Given the description of an element on the screen output the (x, y) to click on. 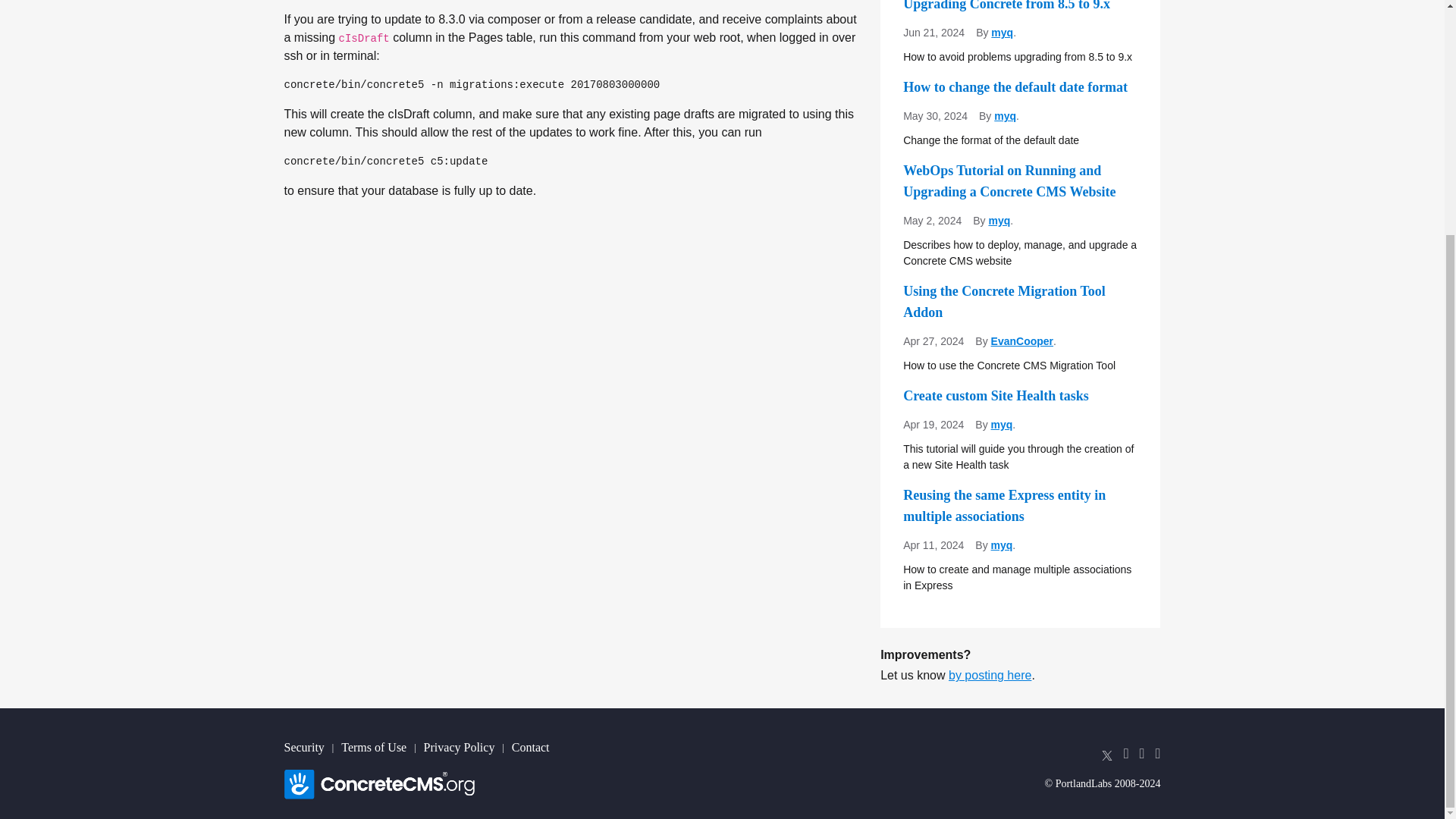
How to change the default date format (1019, 86)
myq (1002, 32)
Upgrading Concrete from 8.5 to 9.x (1019, 7)
